Given the description of an element on the screen output the (x, y) to click on. 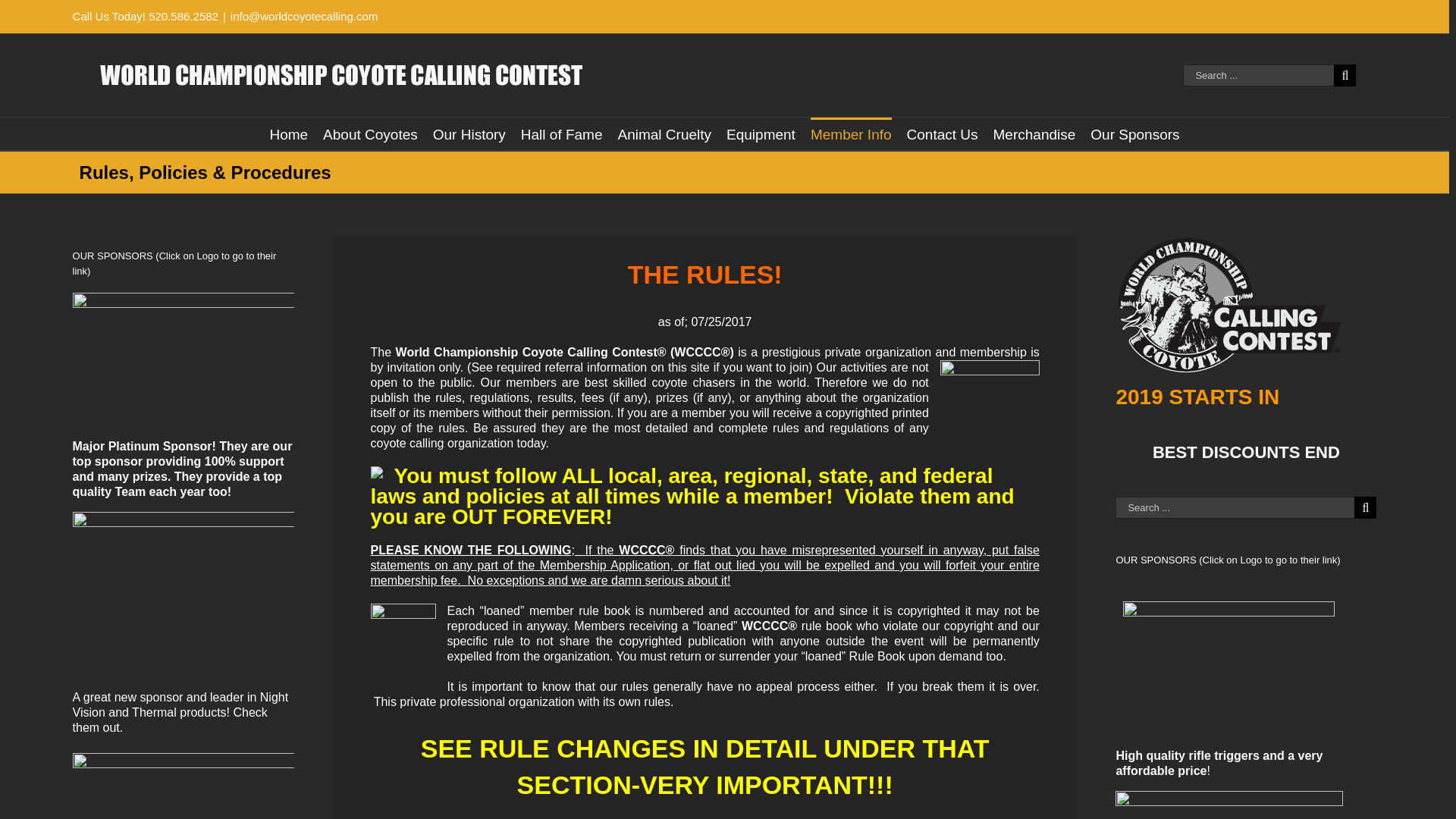
Equipment (760, 133)
Our History (468, 133)
Hall of Fame (561, 133)
Member Info (850, 133)
Home (288, 133)
Animal Cruelty (664, 133)
About Coyotes (370, 133)
